Given the description of an element on the screen output the (x, y) to click on. 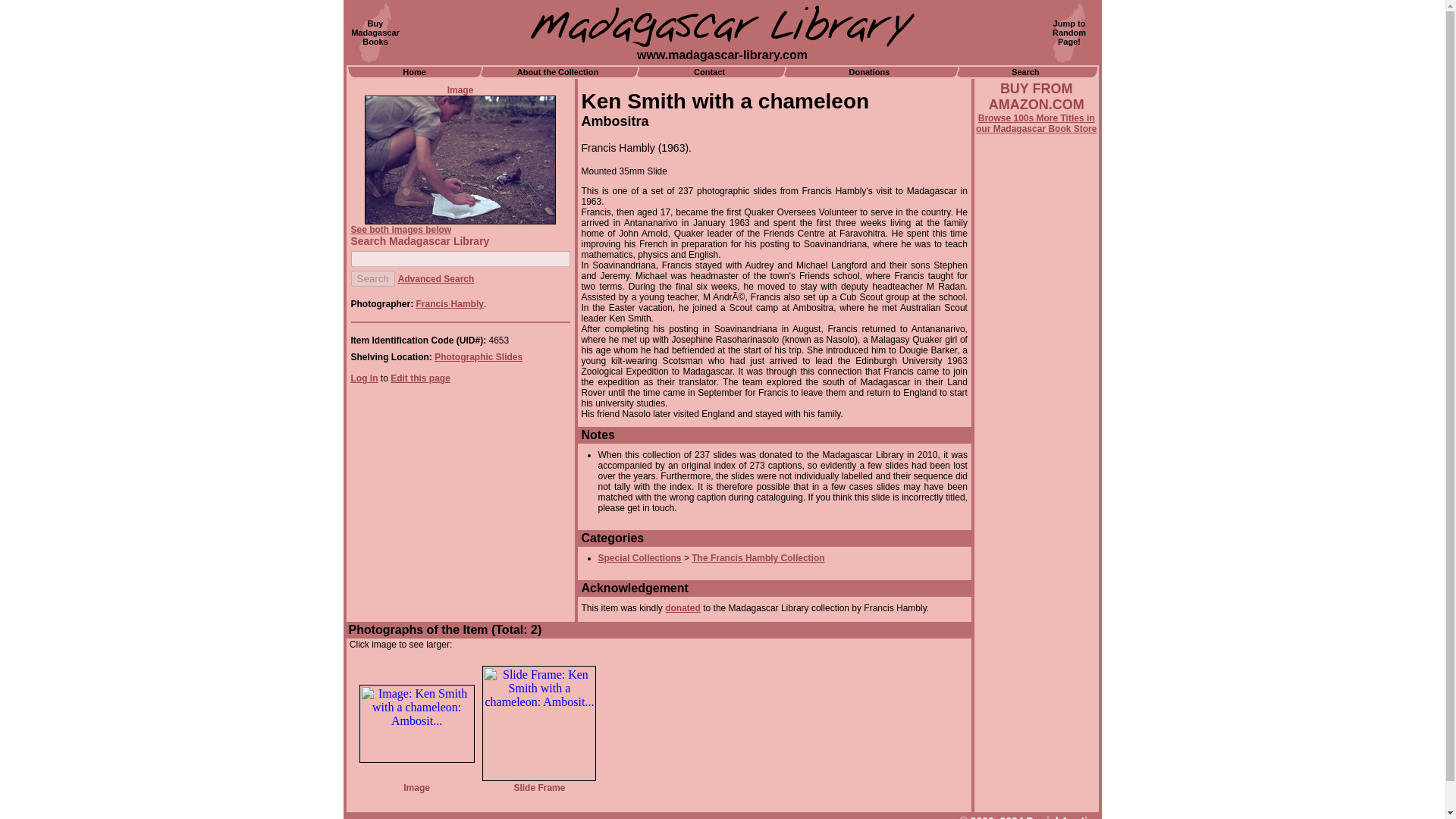
Search (1025, 71)
About the Collection (557, 71)
Photographic Slides (477, 357)
donated (682, 607)
Special Collections (638, 557)
Home (414, 71)
Browse 100s More Titles in our Madagascar Book Store (1035, 123)
Log In (374, 31)
Advanced Search (363, 378)
Edit this page (435, 278)
See both images below (419, 378)
Search (400, 229)
The Francis Hambly Collection (372, 278)
Contact (757, 557)
